Given the description of an element on the screen output the (x, y) to click on. 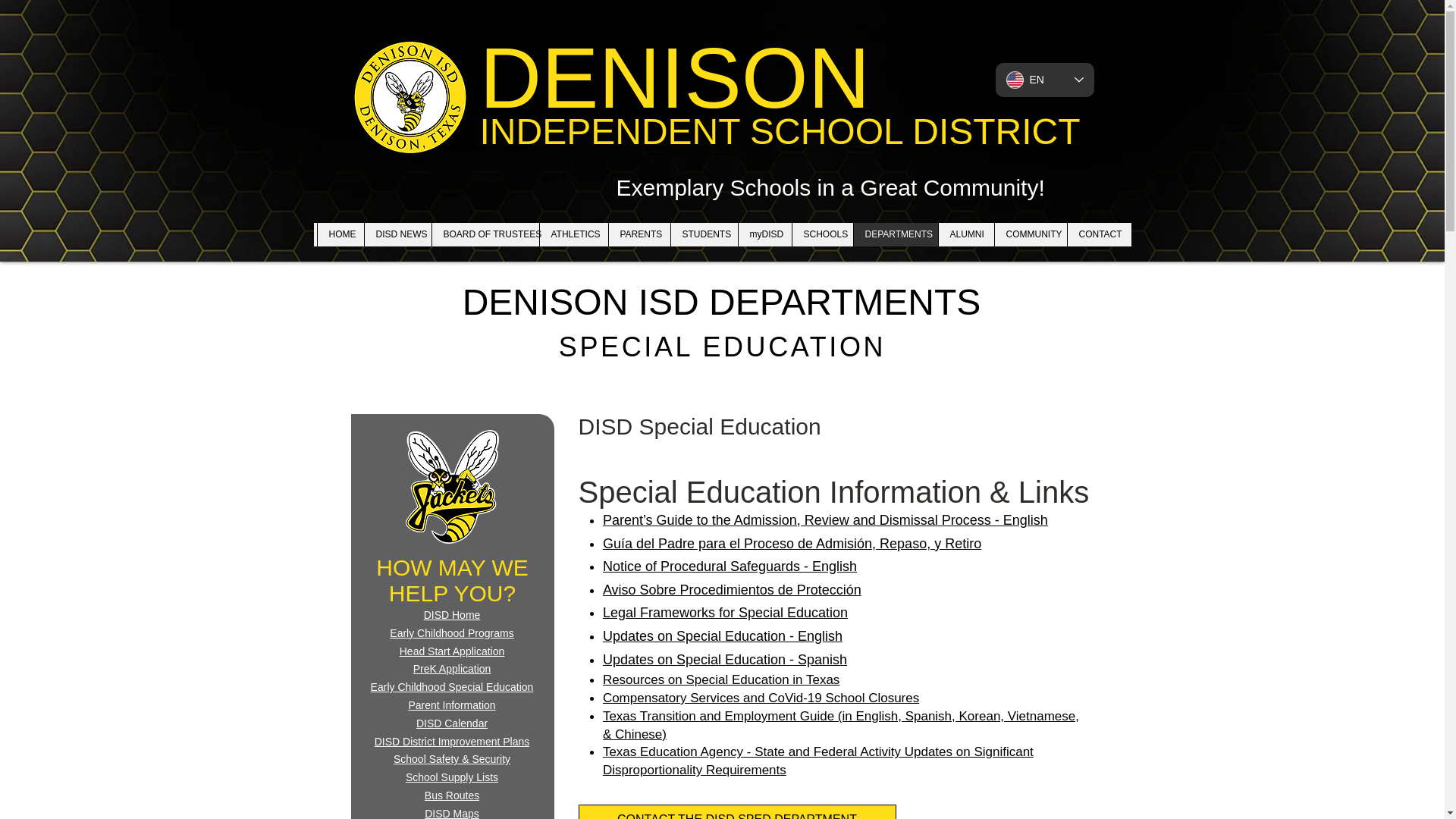
DISD NEWS (397, 234)
PARENTS (638, 234)
ATHLETICS (572, 234)
HOME (340, 234)
DENISON (674, 78)
BOARD OF TRUSTEES (484, 234)
Embedded Content (717, 34)
